Given the description of an element on the screen output the (x, y) to click on. 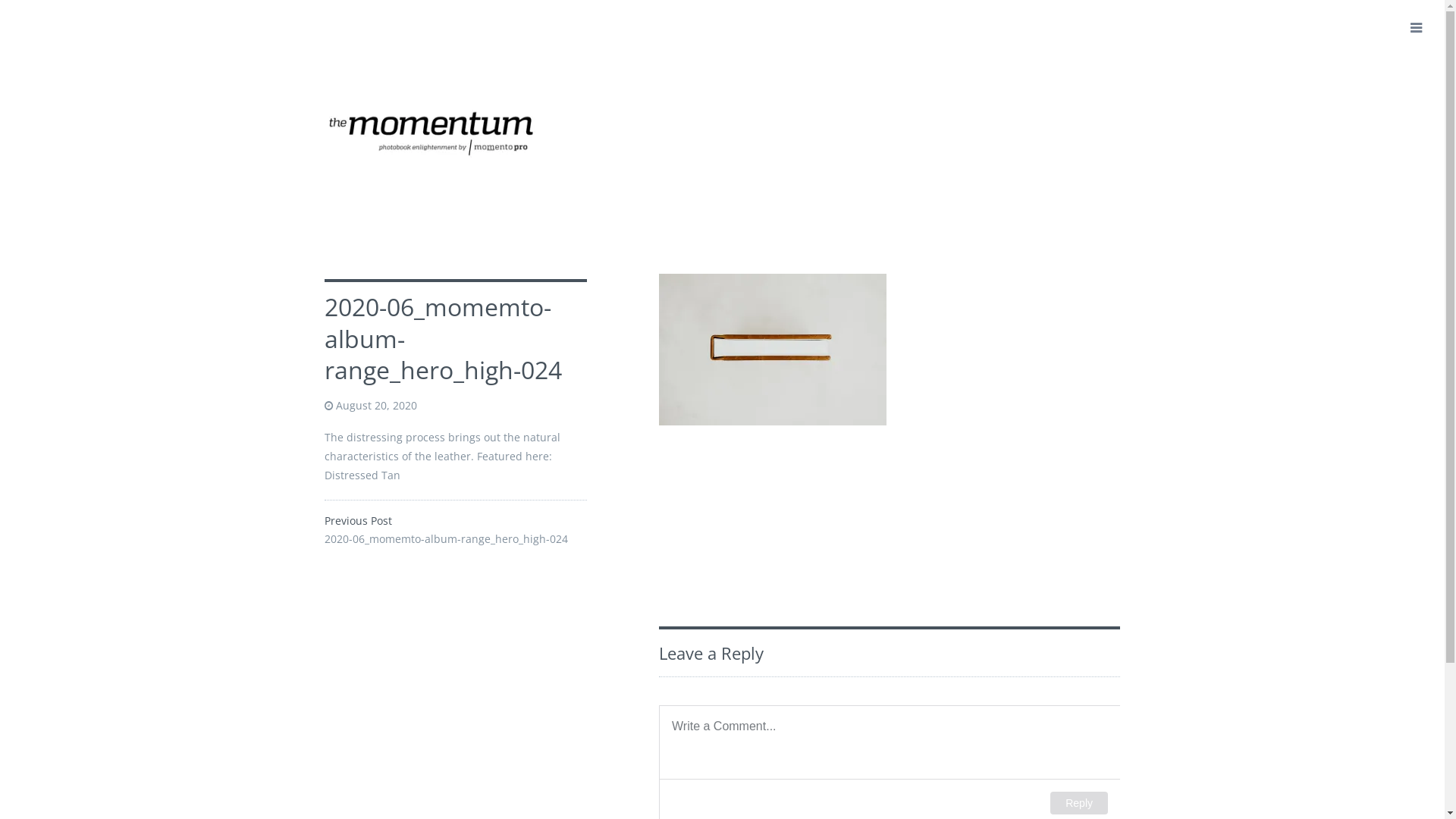
August 20, 2020 Element type: text (376, 405)
Search Element type: text (32, 17)
2020-06_momemto-album-range_hero_high-024 Element type: text (442, 337)
2020-06_momemto-album-range_hero_high-024 Element type: text (445, 538)
